Given the description of an element on the screen output the (x, y) to click on. 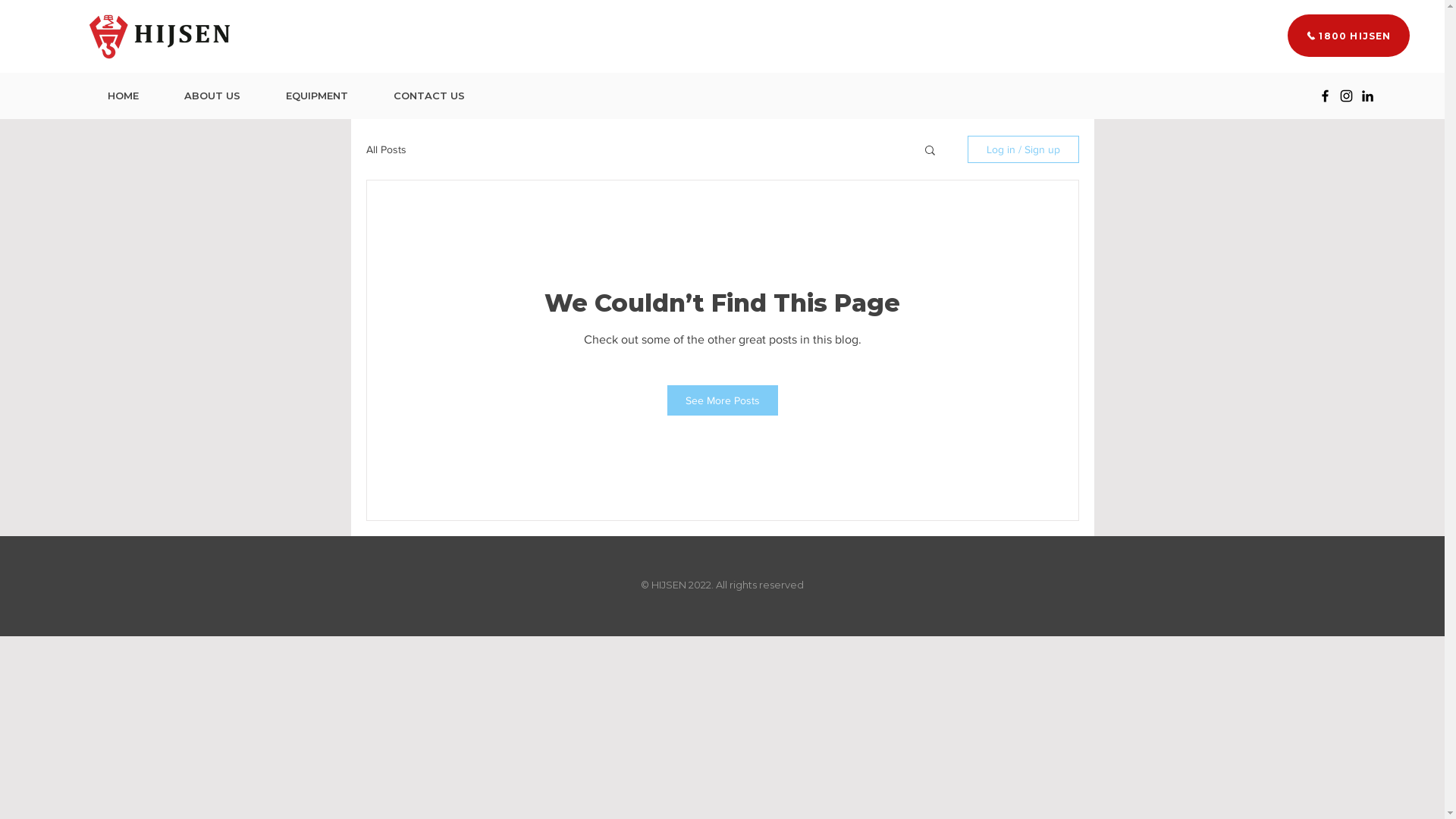
All Posts Element type: text (385, 149)
See More Posts Element type: text (722, 400)
CONTACT US Element type: text (428, 95)
EQUIPMENT Element type: text (316, 95)
1800 HIJSEN Element type: text (1348, 35)
HOME Element type: text (122, 95)
ABOUT US Element type: text (212, 95)
Log in / Sign up Element type: text (1023, 149)
